Given the description of an element on the screen output the (x, y) to click on. 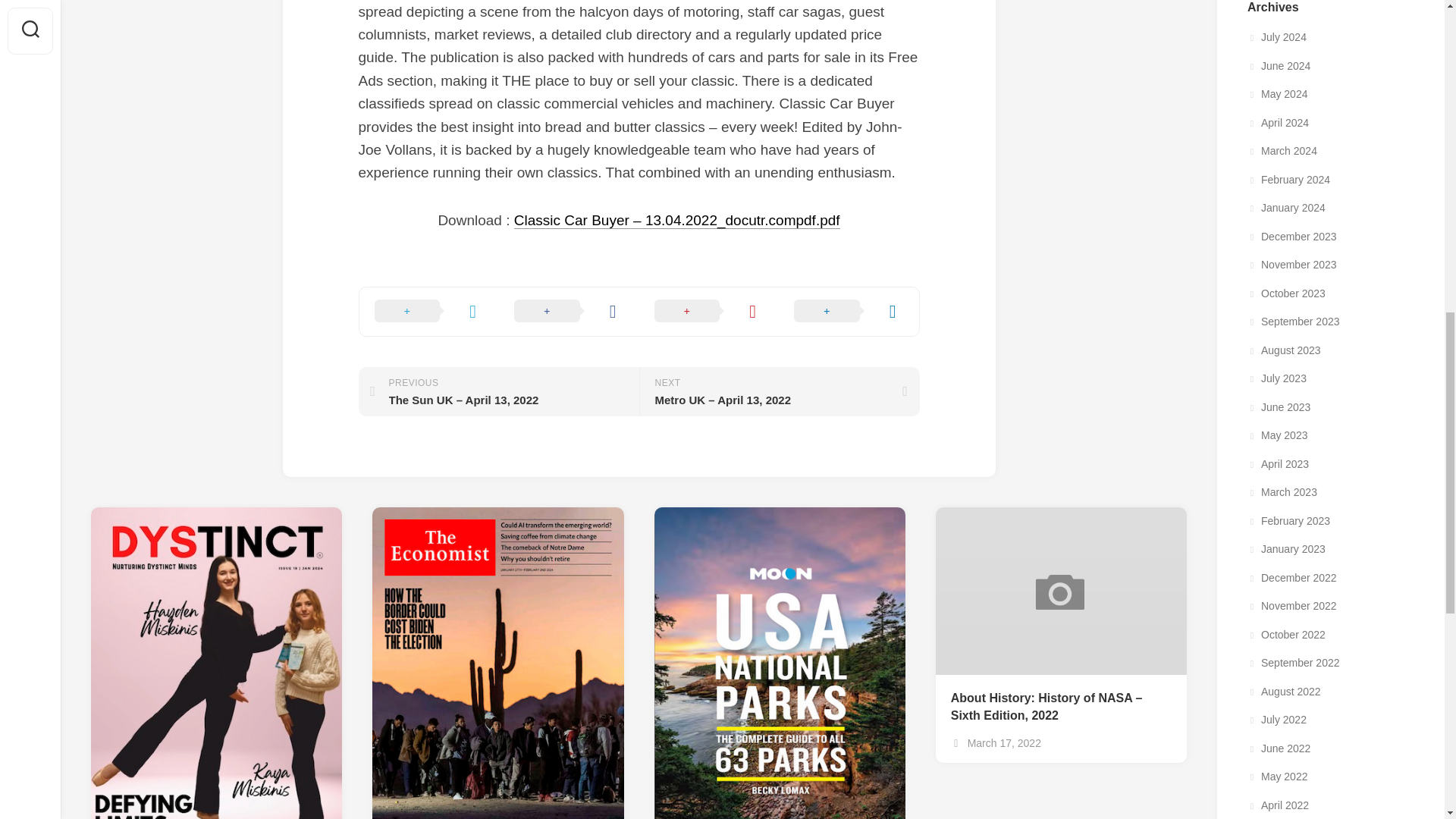
Share on X (429, 311)
Share on LinkedIn (848, 311)
Share on Facebook (569, 311)
Share on Pinterest (708, 311)
